Given the description of an element on the screen output the (x, y) to click on. 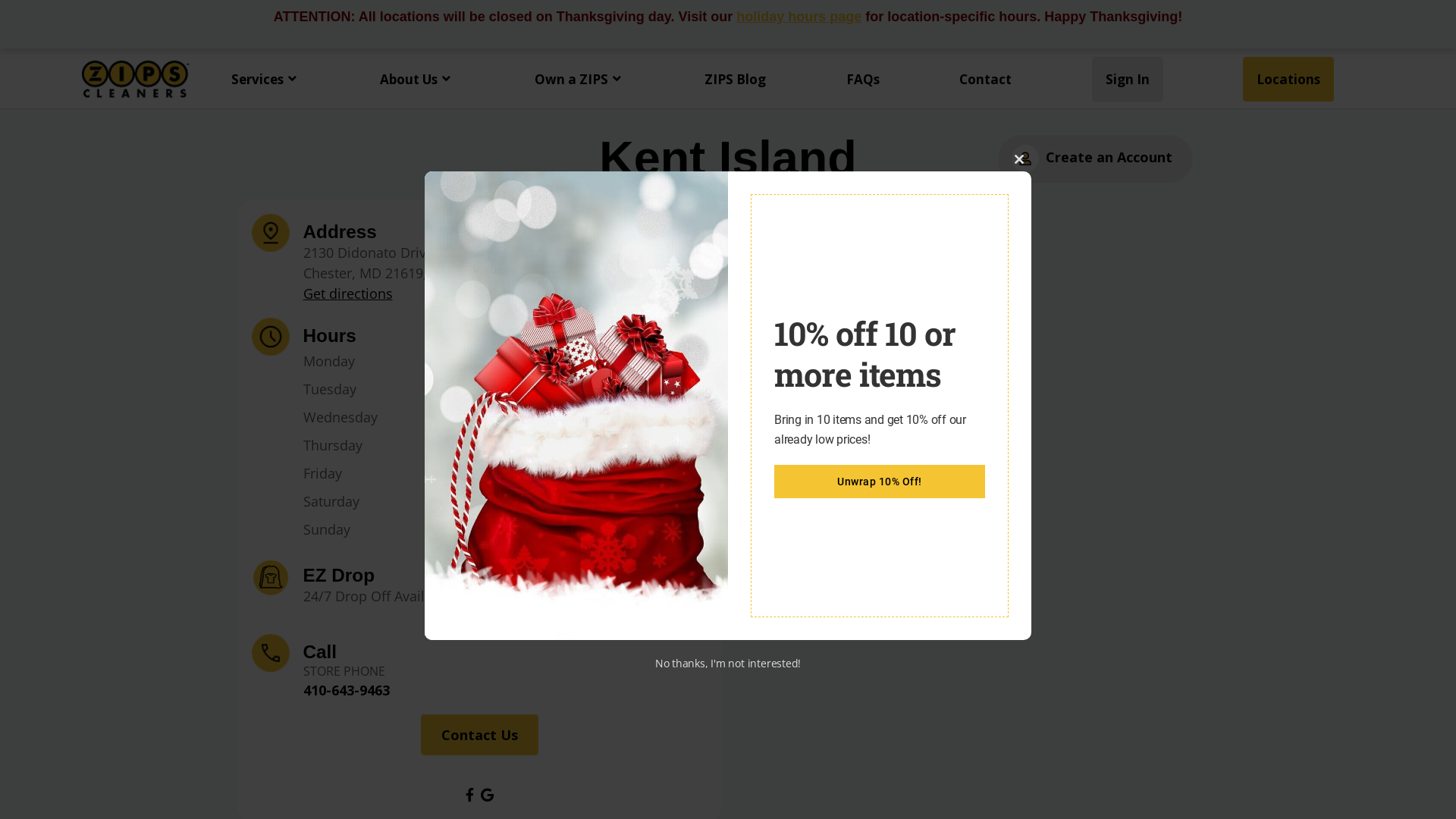
Services Element type: text (265, 78)
Sign In Element type: text (1127, 78)
Unwrap 10% Off! Element type: text (879, 481)
FAQs Element type: text (862, 78)
410-643-9463 Element type: text (346, 689)
Close this module Element type: text (1019, 159)
holiday hours page Element type: text (798, 16)
About Us Element type: text (416, 78)
Contact Us Element type: text (479, 734)
Own a ZIPS Element type: text (579, 78)
No thanks, I'm not interested! Element type: text (727, 662)
Create an Account Element type: text (1094, 158)
Contact Element type: text (985, 78)
Locations Element type: text (1287, 78)
Get directions Element type: text (347, 293)
Visit Google profile for this location Element type: hover (486, 794)
Visit Facebook profile for this location Element type: hover (468, 794)
ZIPS Blog Element type: text (734, 78)
